Given the description of an element on the screen output the (x, y) to click on. 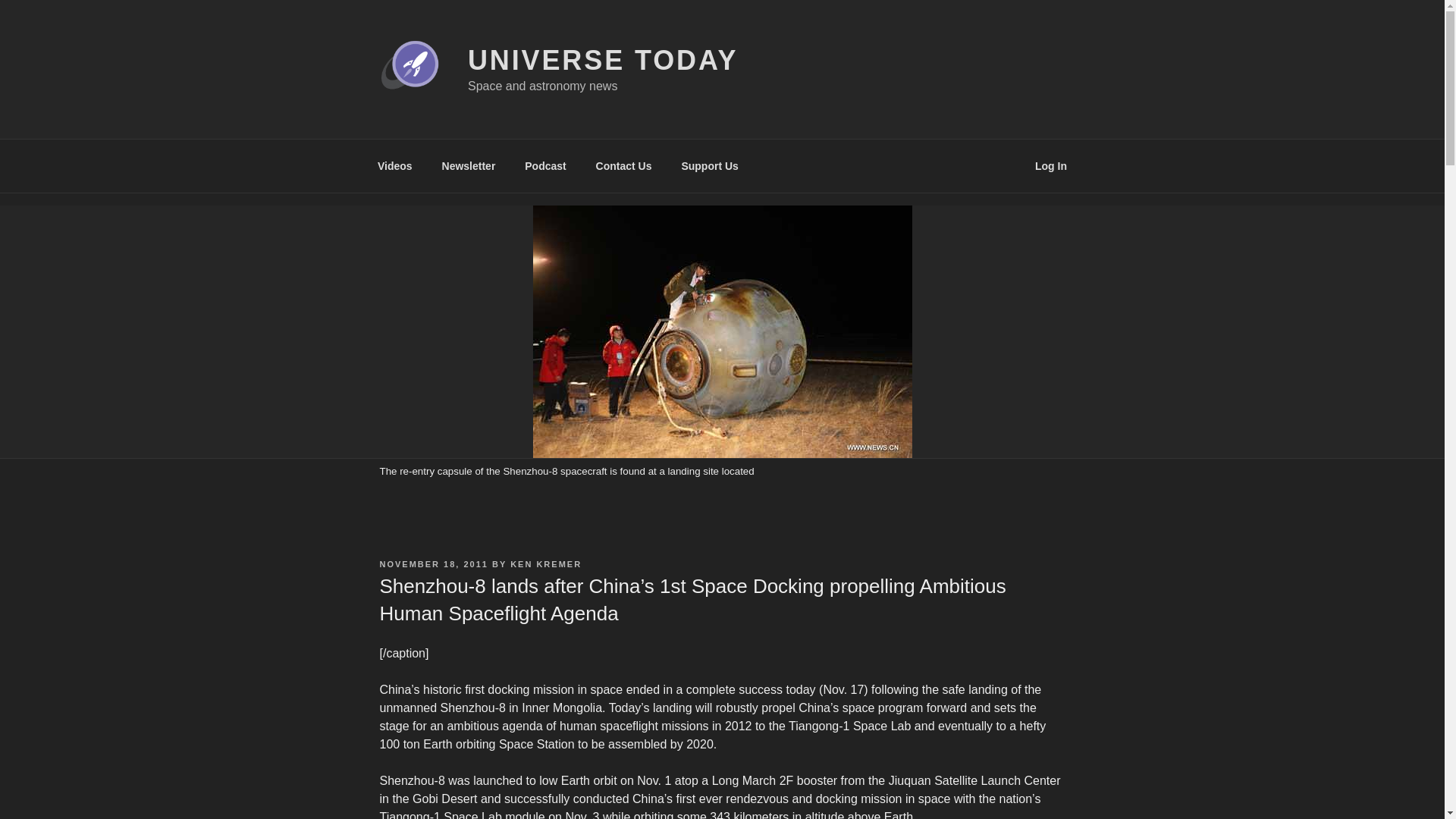
KEN KREMER (545, 563)
Podcast (545, 165)
Newsletter (468, 165)
UNIVERSE TODAY (602, 60)
NOVEMBER 18, 2011 (432, 563)
Videos (394, 165)
Log In (1051, 165)
Contact Us (623, 165)
Support Us (709, 165)
